Given the description of an element on the screen output the (x, y) to click on. 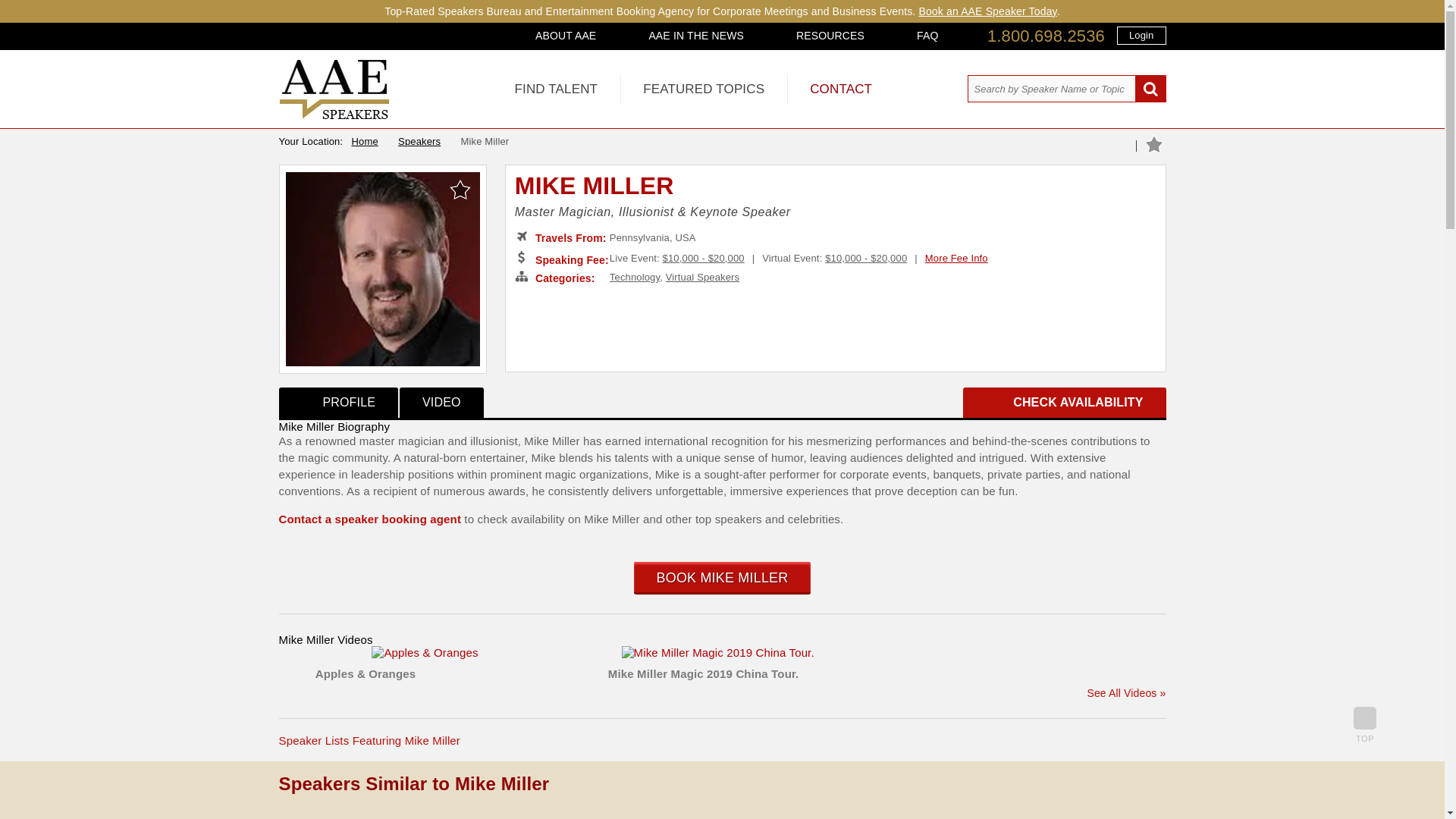
All American Speakers Bureau and Celebrity Booking Agency (334, 115)
1.800.698.2536 (1046, 35)
Book an AAE Speaker Today (987, 10)
Login (1141, 35)
ABOUT AAE (565, 34)
RESOURCES (829, 34)
FAQ (927, 34)
Search (1150, 89)
AAE IN THE NEWS (695, 34)
